Given the description of an element on the screen output the (x, y) to click on. 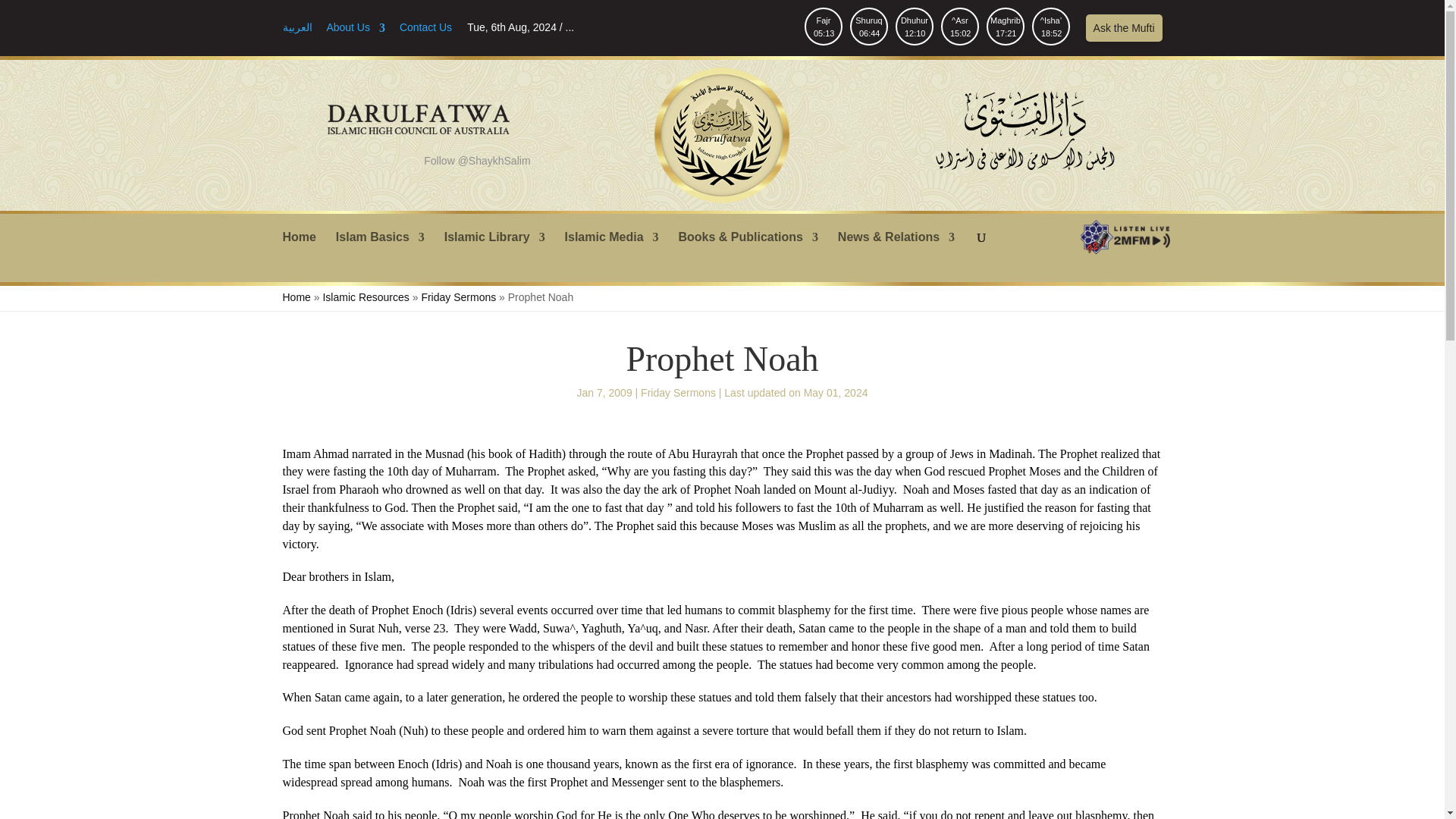
Contact Us (914, 26)
Contact Us (869, 26)
Islam Basics (424, 31)
Islamic Multimedia (424, 31)
About Us (1006, 26)
About Us (380, 248)
Ask the Mufti (611, 248)
